Given the description of an element on the screen output the (x, y) to click on. 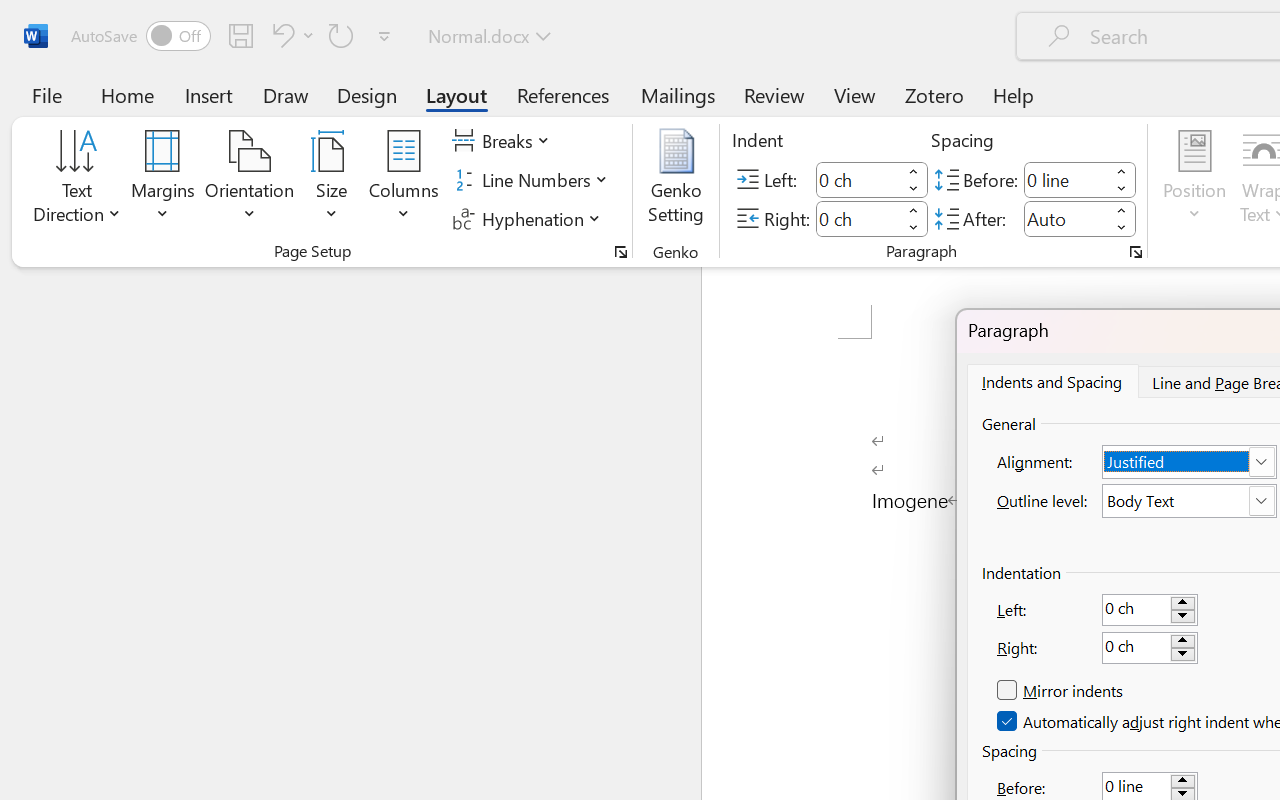
RichEdit Control (1136, 647)
